Given the description of an element on the screen output the (x, y) to click on. 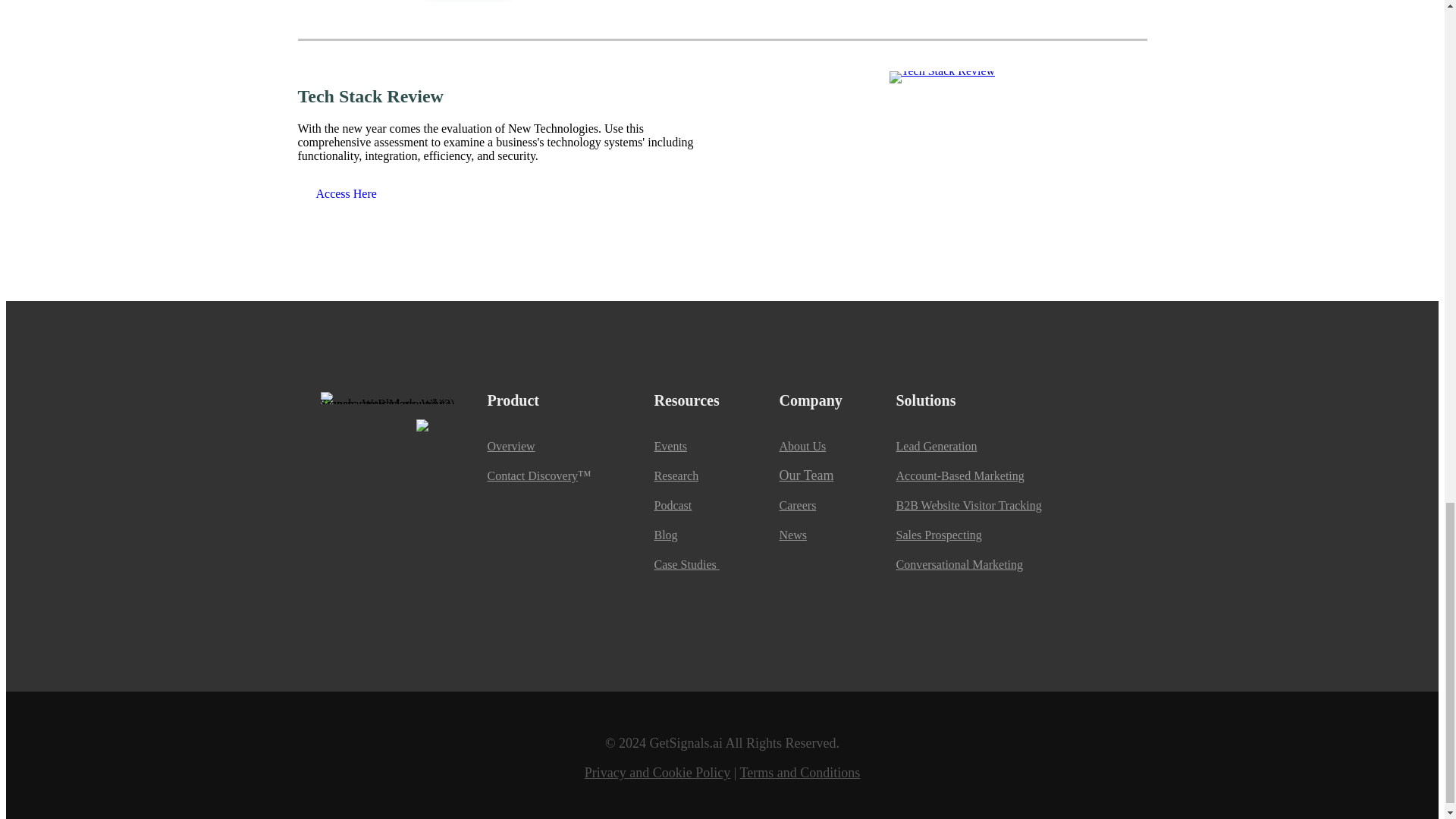
Teck-Stack-Mockup (941, 77)
